Given the description of an element on the screen output the (x, y) to click on. 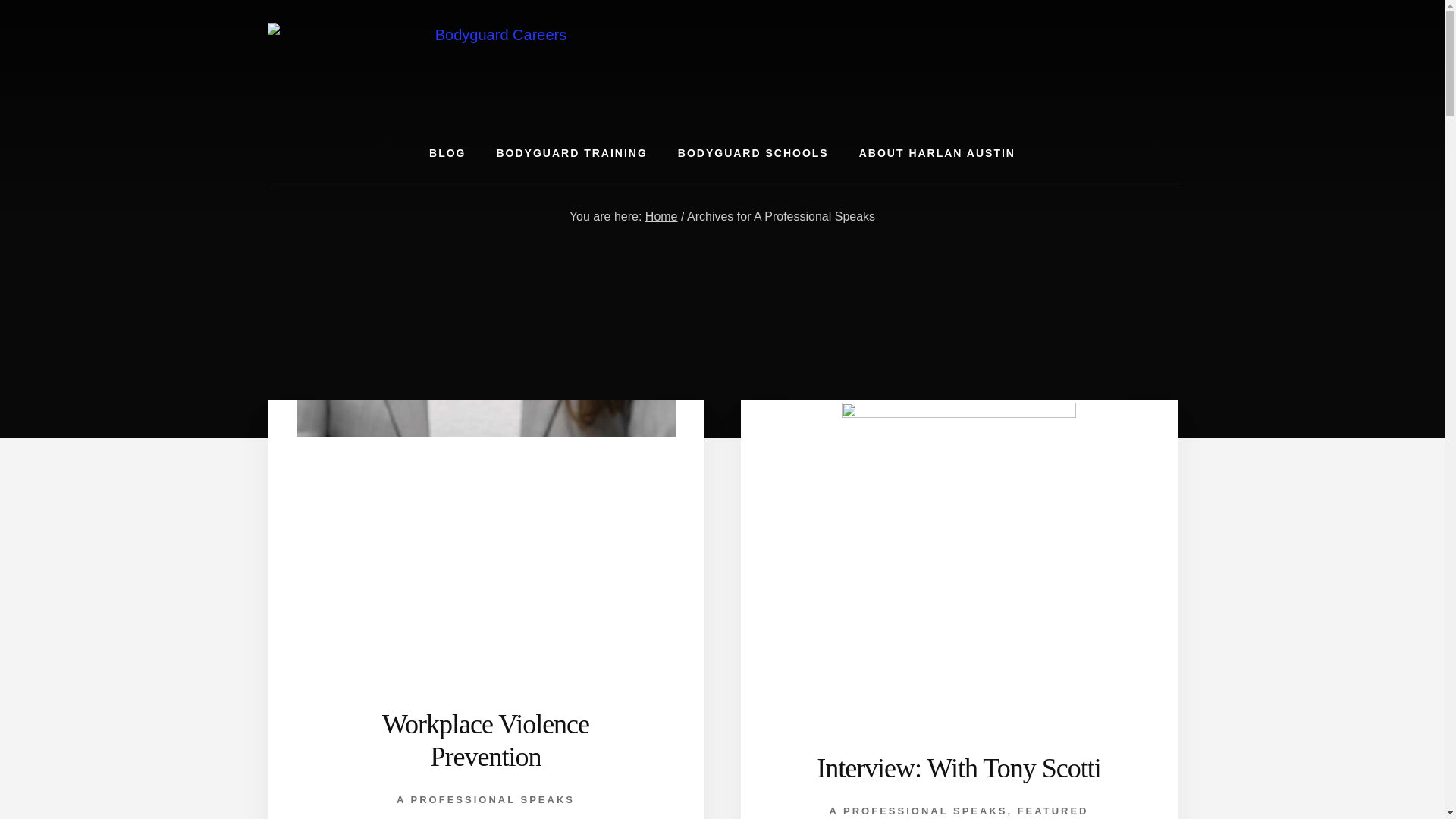
ABOUT HARLAN AUSTIN (937, 153)
BLOG (446, 153)
FEATURED ARTICLES (1005, 812)
BODYGUARD TRAINING (571, 153)
A PROFESSIONAL SPEAKS (918, 810)
Interview: With Tony Scotti (958, 767)
BODYGUARD SCHOOLS (753, 153)
Workplace Violence Prevention (485, 740)
A PROFESSIONAL SPEAKS (485, 799)
